Given the description of an element on the screen output the (x, y) to click on. 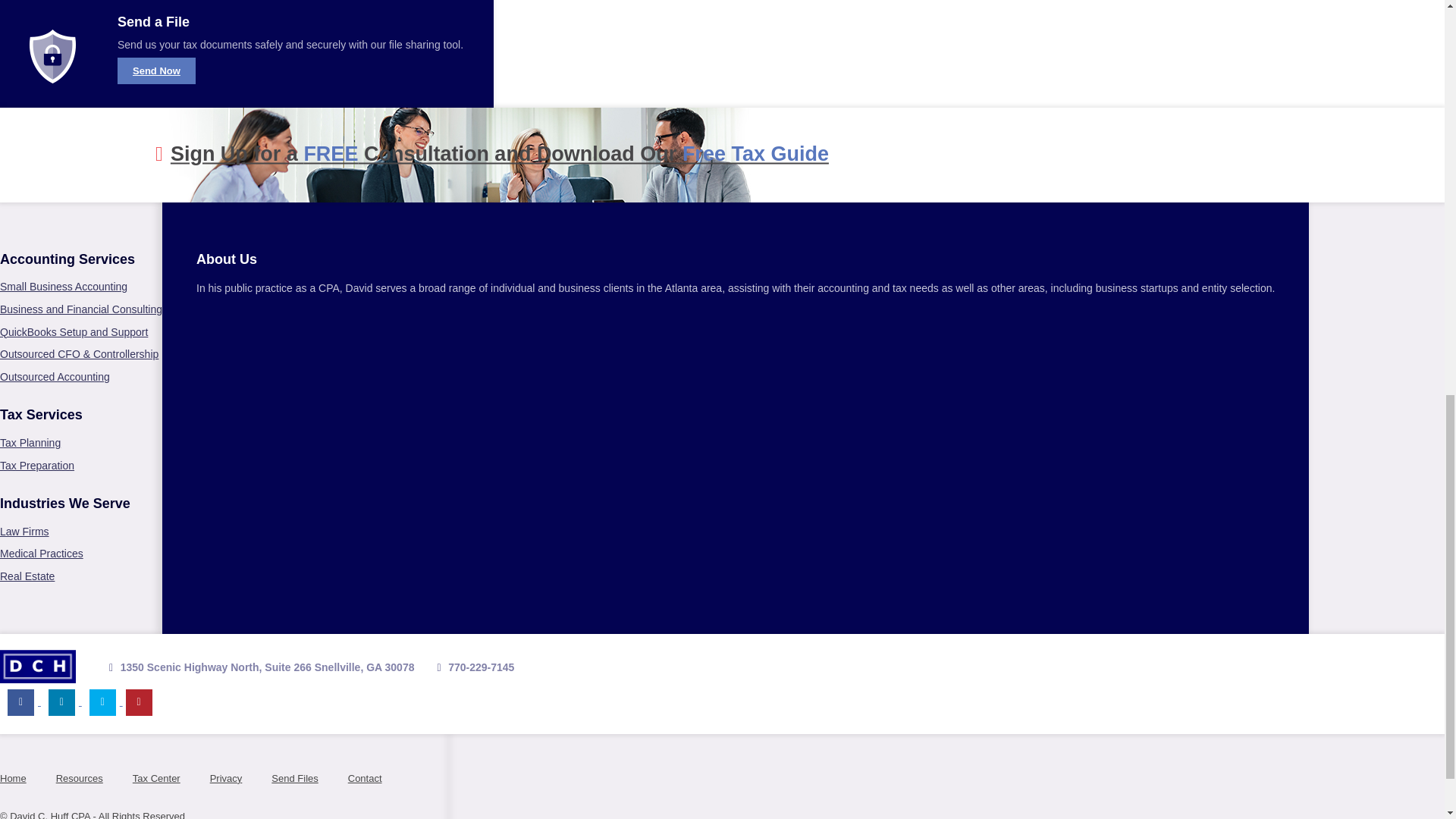
Send Now (156, 70)
QuickBooks Setup and Support (74, 332)
Small Business Accounting (64, 287)
Business and Financial Consulting (80, 309)
